Given the description of an element on the screen output the (x, y) to click on. 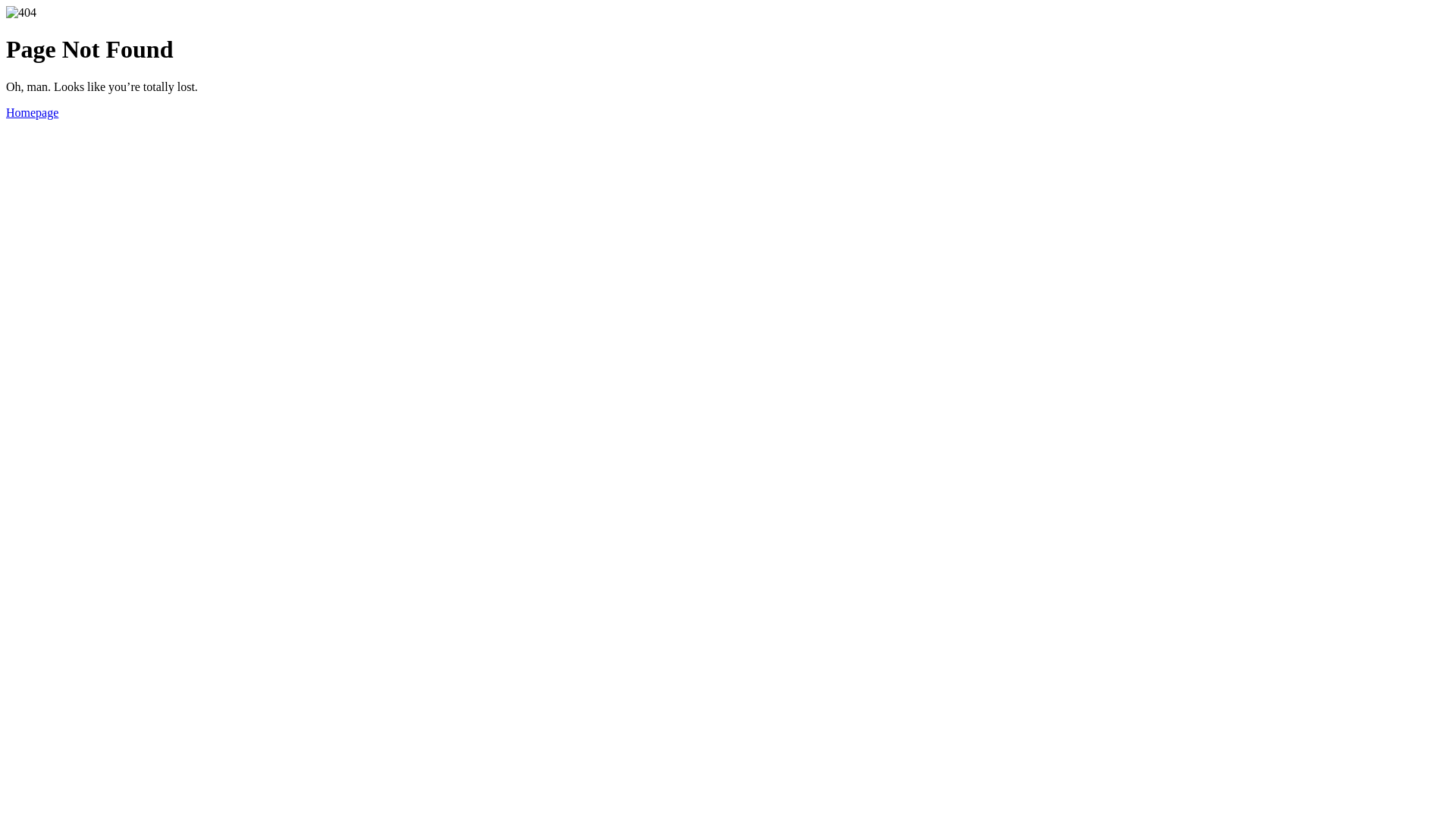
Homepage Element type: text (32, 112)
